Given the description of an element on the screen output the (x, y) to click on. 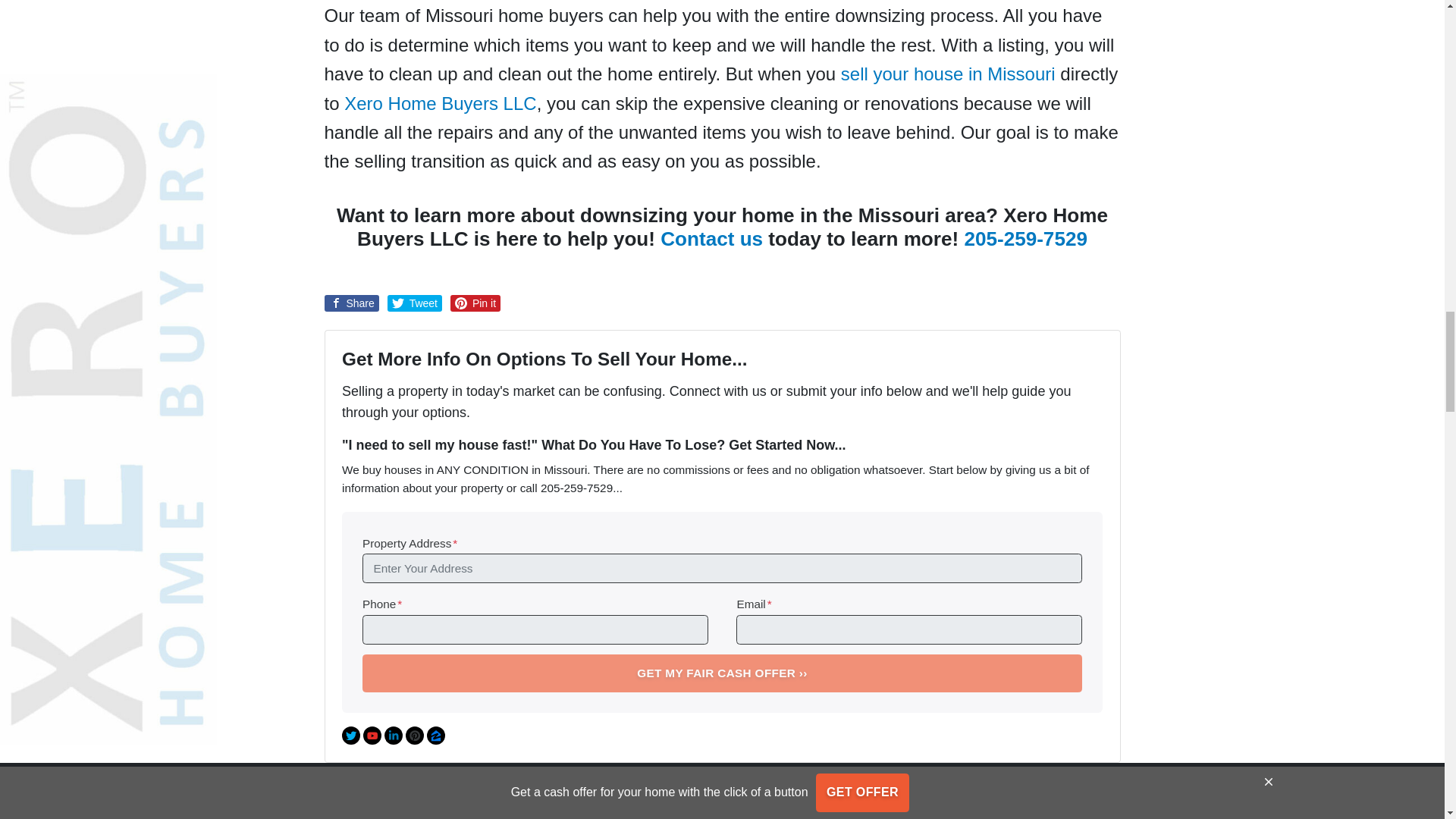
YouTube (371, 735)
Tweet (414, 303)
LinkedIn (393, 735)
Share on Pinterest (474, 303)
Contact us (711, 238)
Share (351, 303)
Share on Facebook (351, 303)
Pinterest (414, 735)
Zillow (435, 735)
Twitter (350, 735)
